Given the description of an element on the screen output the (x, y) to click on. 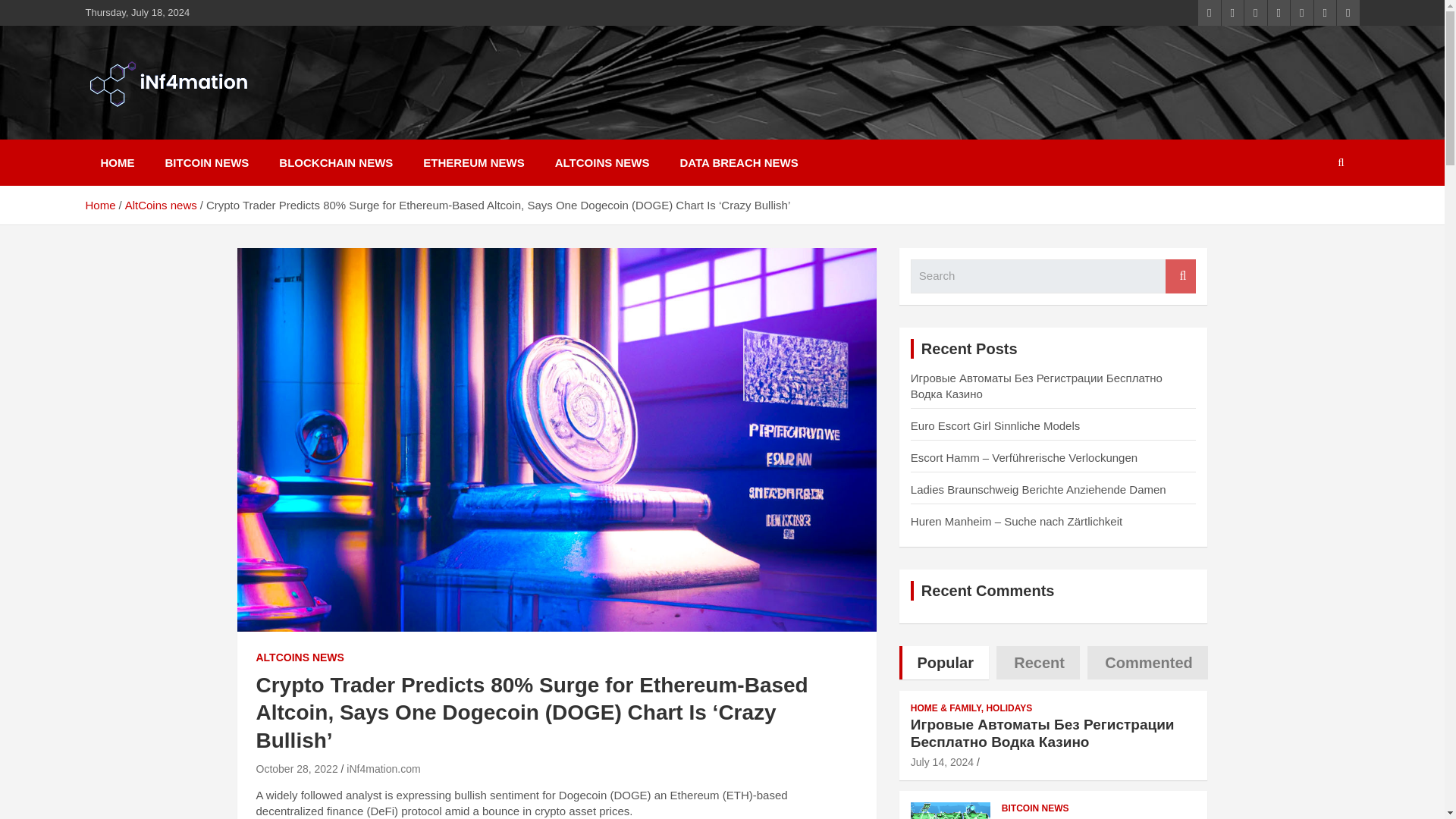
iNf4mation.com (383, 768)
DATA BREACH NEWS (737, 162)
BLOCKCHAIN NEWS (335, 162)
Popular (943, 662)
iNf4mation.com News (242, 128)
Recent (1037, 662)
ALTCOINS NEWS (602, 162)
HOME (116, 162)
Home (99, 205)
ETHEREUM NEWS (472, 162)
Commented (1147, 662)
ALTCOINS NEWS (299, 657)
AltCoins news (160, 205)
Euro Escort Girl Sinnliche Models (995, 425)
October 28, 2022 (296, 768)
